Given the description of an element on the screen output the (x, y) to click on. 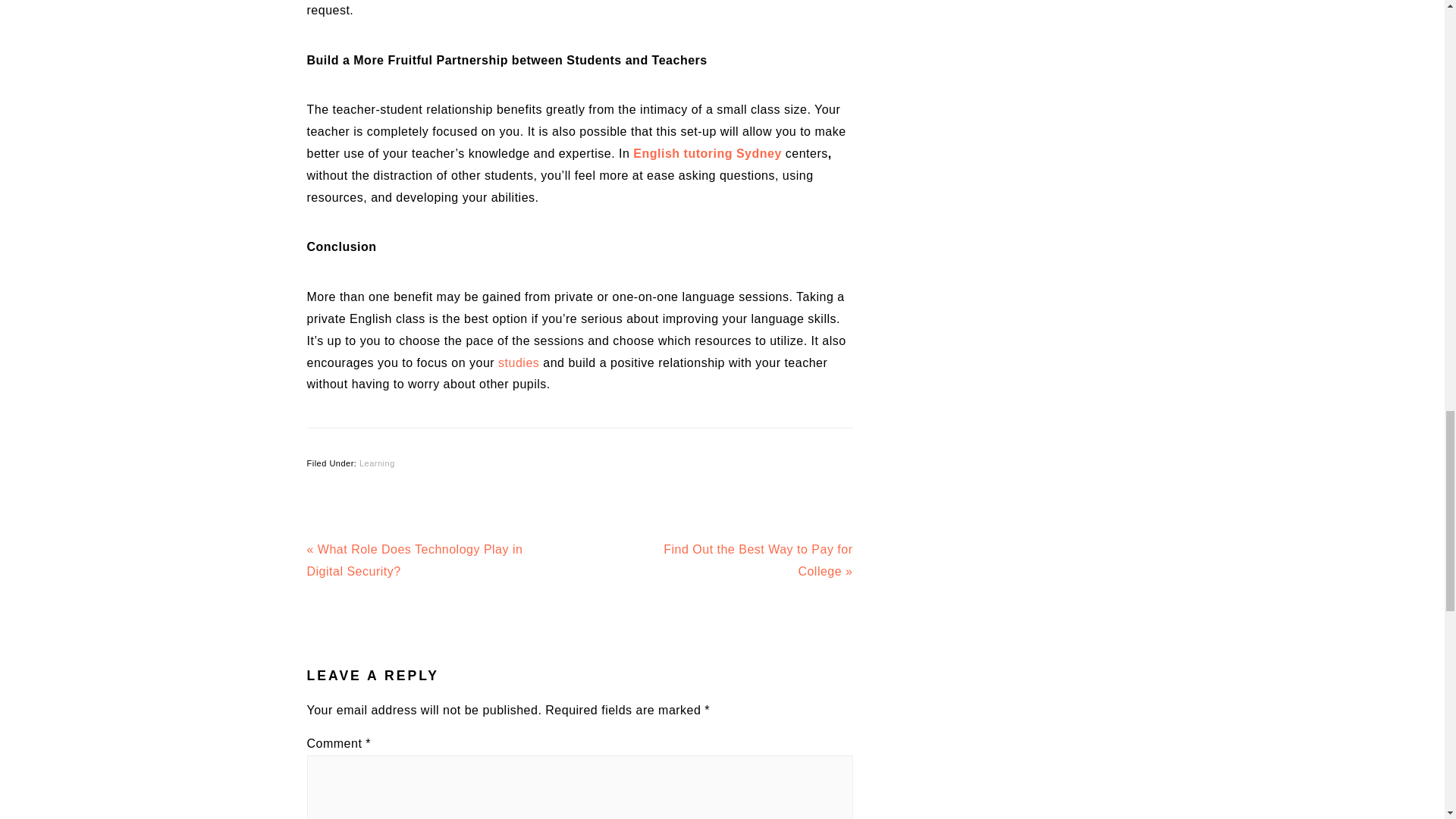
English tutoring Sydney (707, 153)
Learning (376, 462)
studies (517, 362)
